Given the description of an element on the screen output the (x, y) to click on. 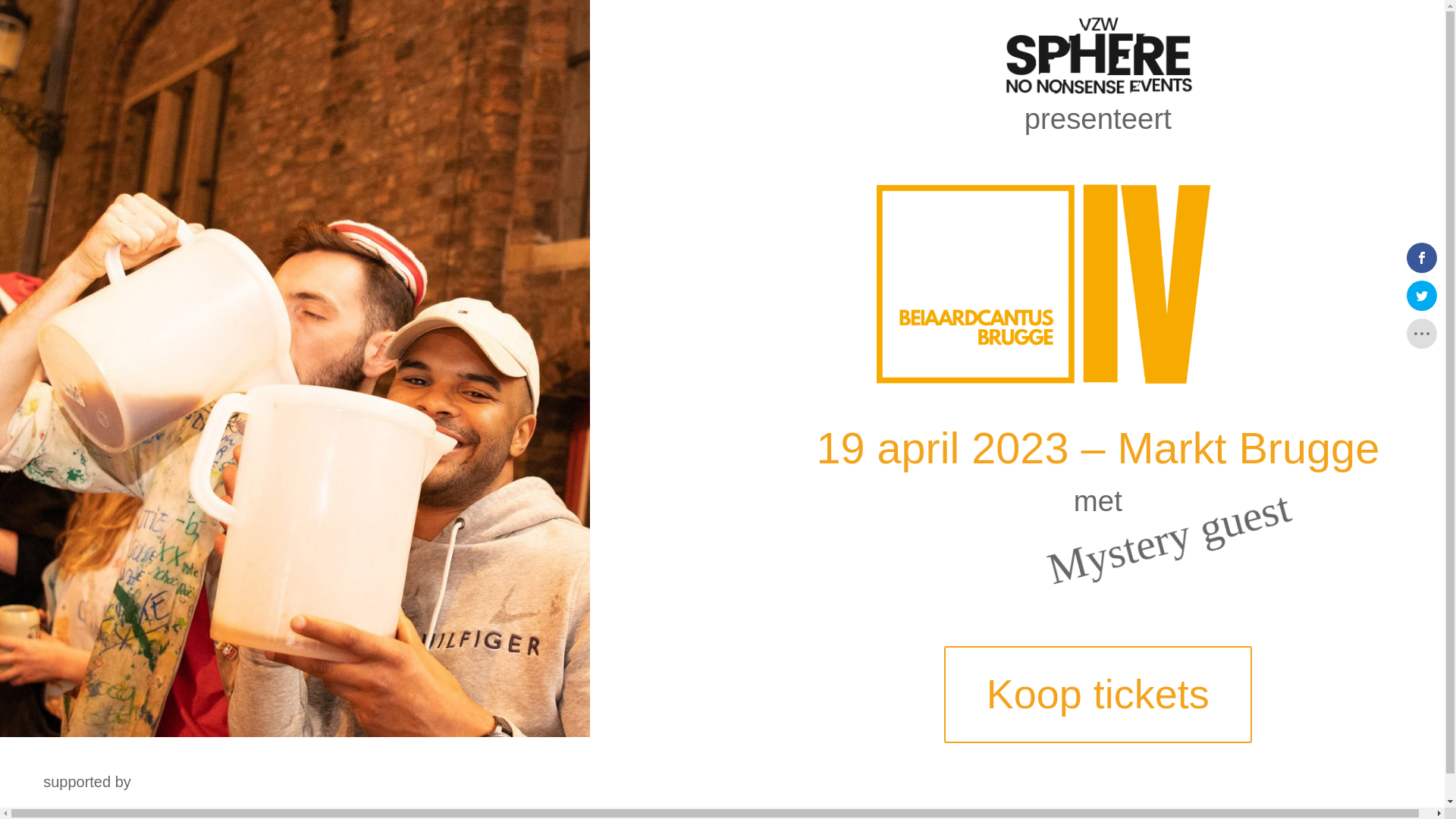
Koop tickets Element type: text (1098, 694)
SphereTrans Element type: hover (1097, 55)
324124180_5702688026493743_2573093234696911018_n-2 Element type: hover (1097, 283)
Cantus1 Element type: hover (294, 733)
